Given the description of an element on the screen output the (x, y) to click on. 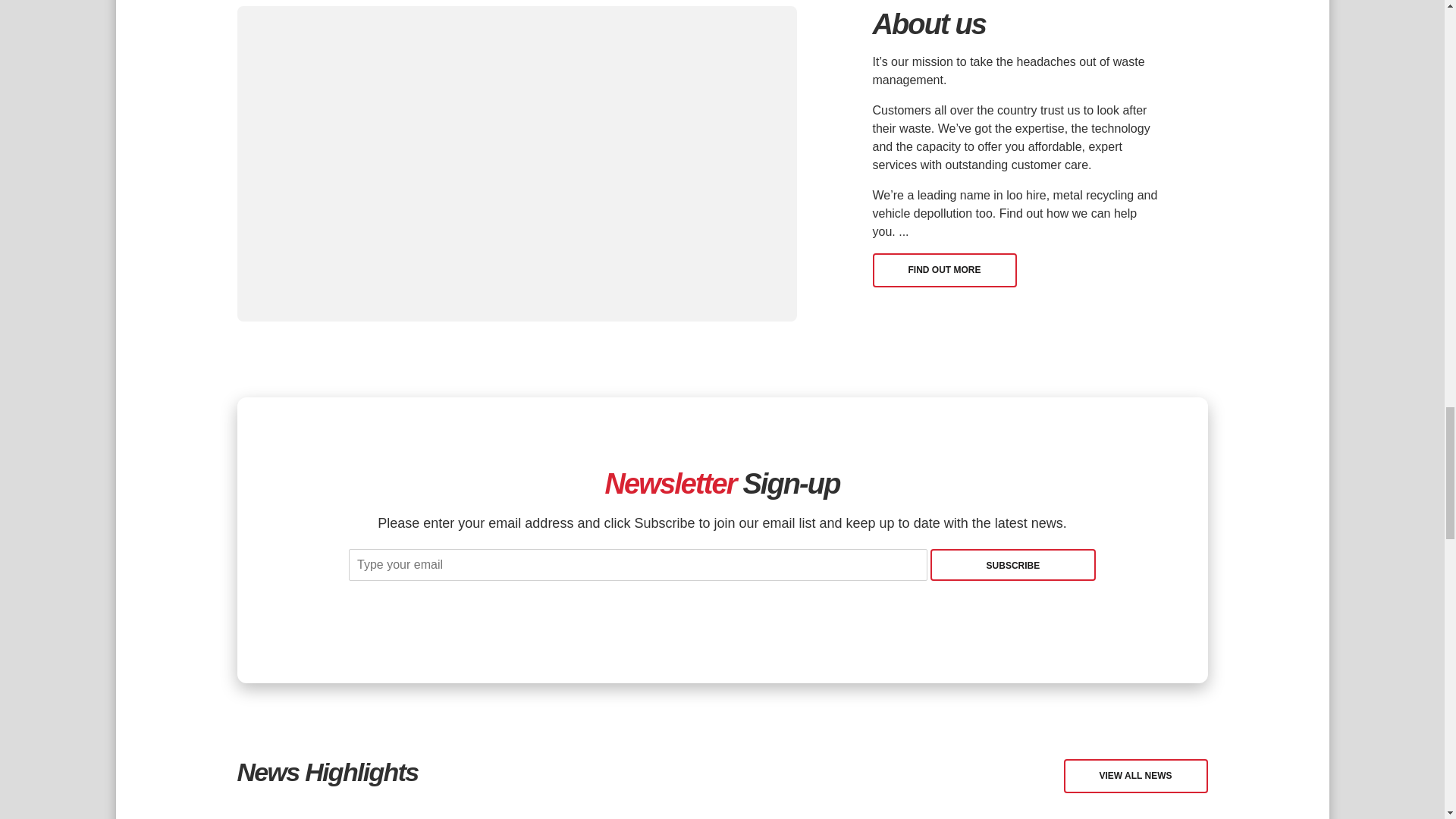
FIND OUT MORE (944, 270)
SUBSCRIBE (1013, 564)
